Given the description of an element on the screen output the (x, y) to click on. 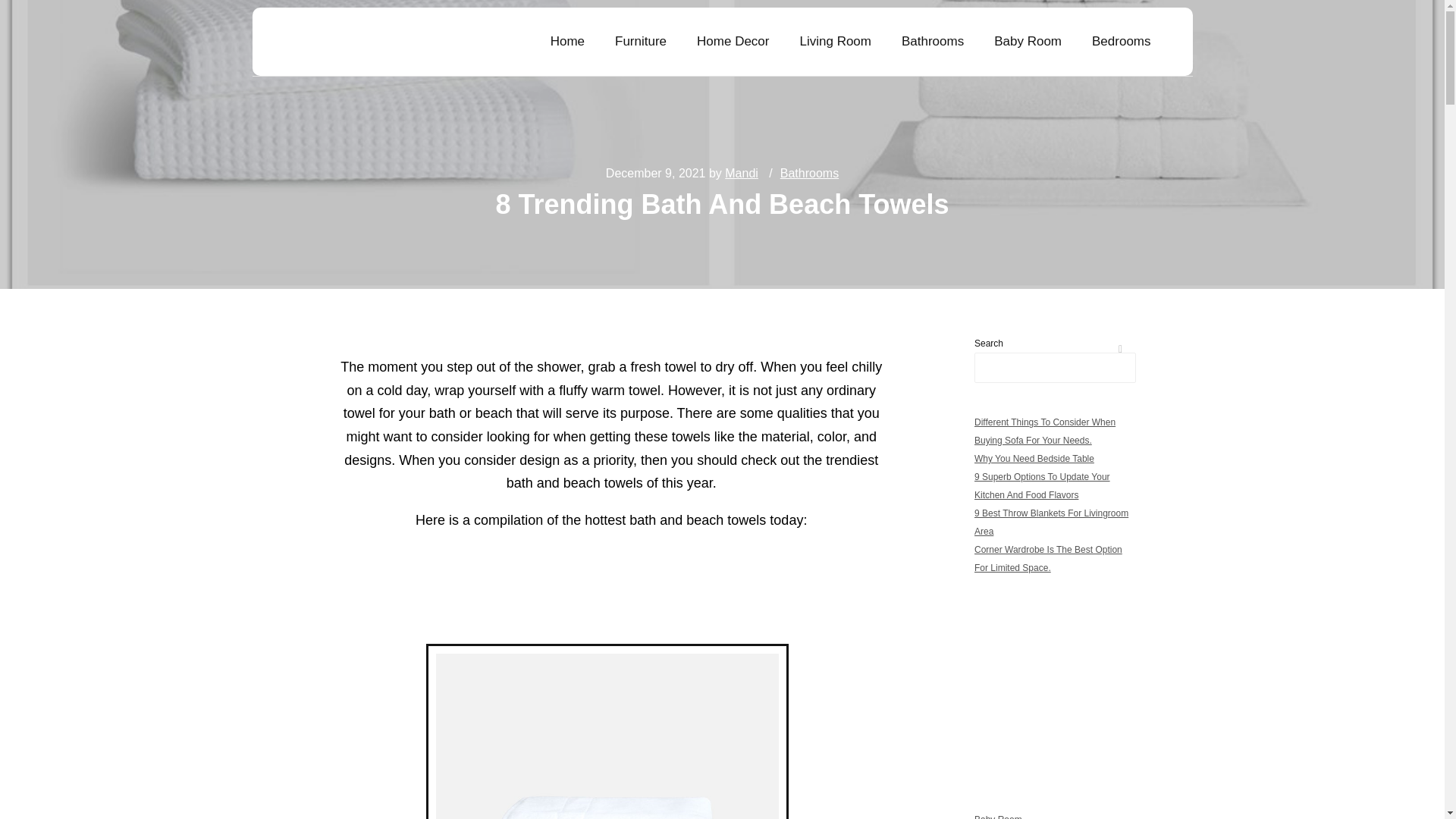
Baby Room (1027, 41)
Bedrooms (1121, 41)
Bathrooms (932, 41)
Living Room (835, 41)
Home Decor (732, 41)
Home (567, 41)
Here Is Home Decor (354, 42)
Furniture (640, 41)
